Given the description of an element on the screen output the (x, y) to click on. 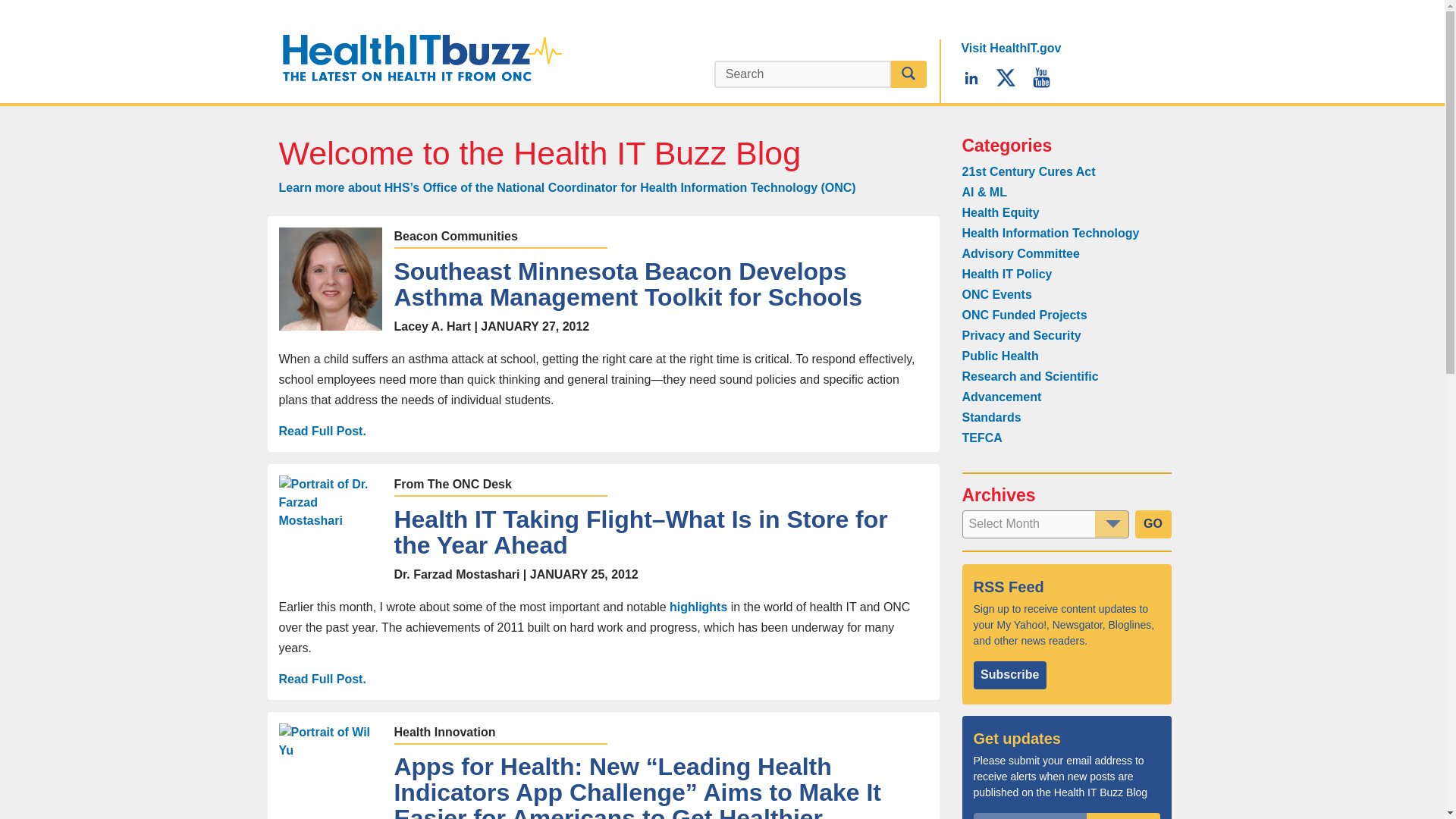
Read Full Post. (322, 431)
Lacey A. Hart (330, 278)
opens new window to YouTube (1041, 77)
Subscribe (1123, 816)
Visit HealthIT.gov (1010, 47)
opens new window to LinkedIn (970, 77)
Search Text (802, 73)
Read Full Post. (322, 679)
Follow ONC on Twitter (1005, 77)
